Given the description of an element on the screen output the (x, y) to click on. 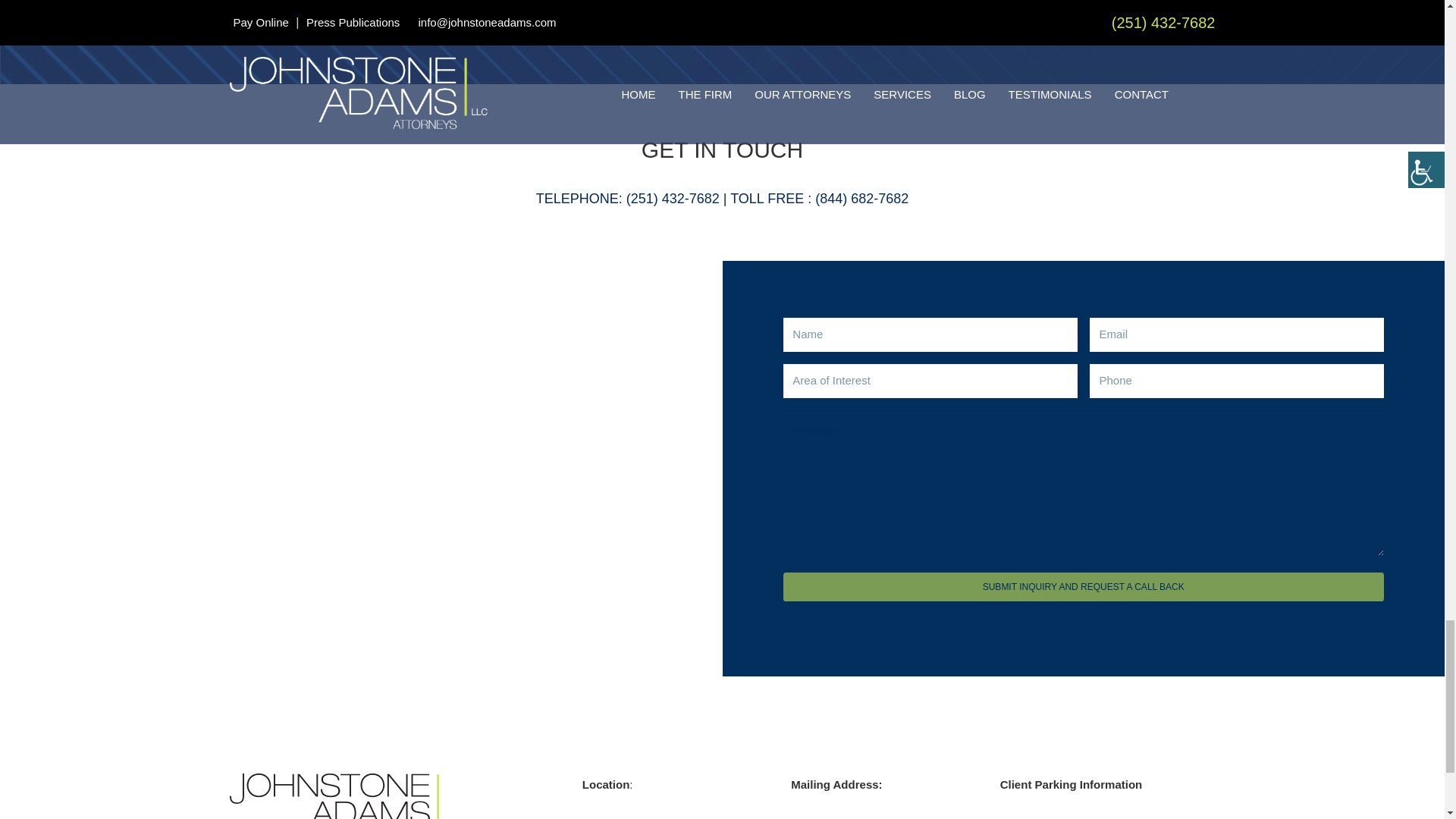
SIGN UP (986, 15)
SUBMIT INQUIRY AND REQUEST A CALL BACK (342, 796)
